Given the description of an element on the screen output the (x, y) to click on. 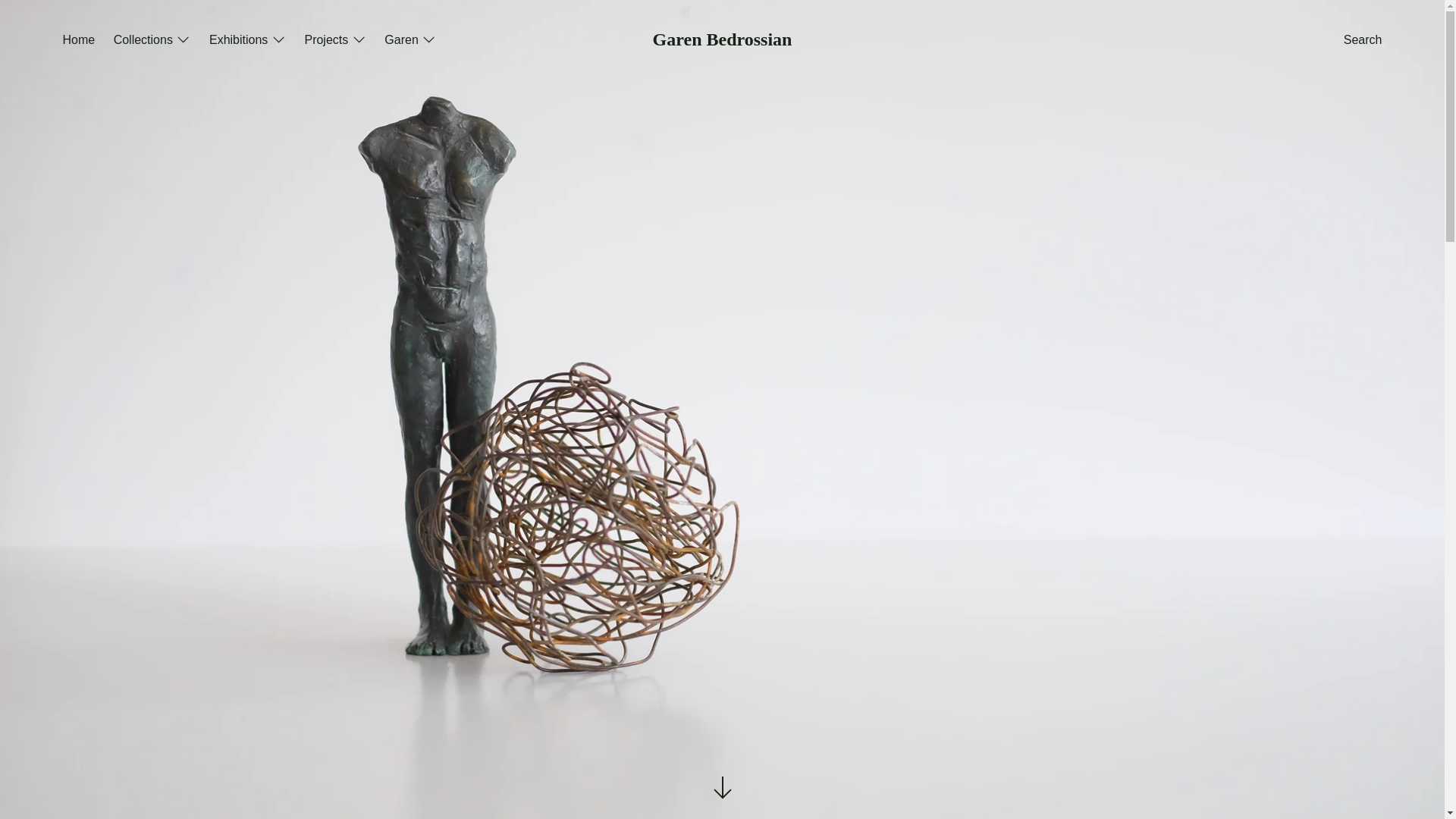
Garen Bedrossian (722, 39)
Exhibitions (248, 41)
Garen (410, 41)
Home (78, 41)
Projects (334, 41)
Collections (152, 41)
Search (1363, 41)
